Given the description of an element on the screen output the (x, y) to click on. 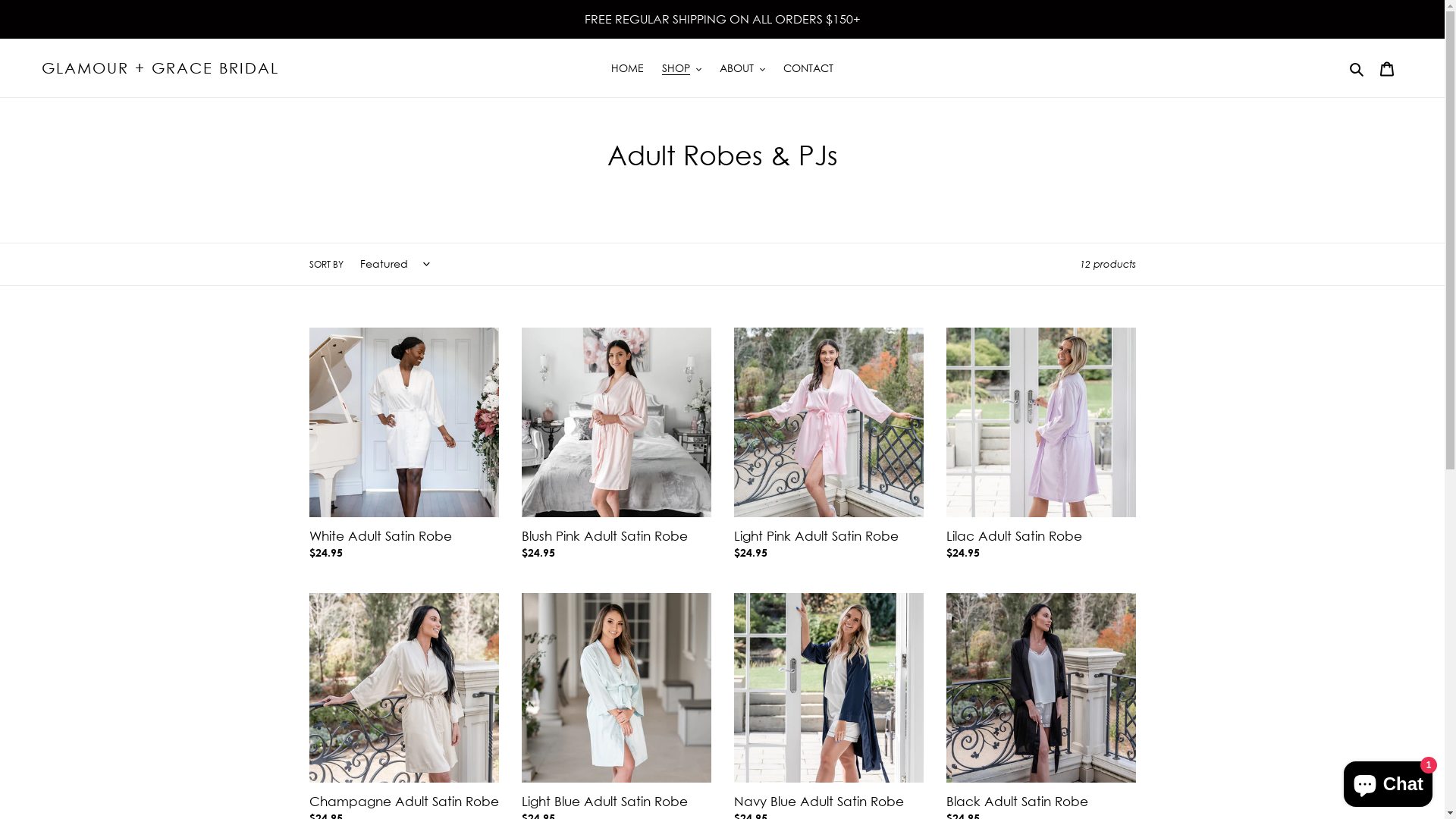
White Adult Satin Robe Element type: text (403, 446)
ABOUT Element type: text (742, 67)
CONTACT Element type: text (807, 67)
HOME Element type: text (627, 67)
Light Pink Adult Satin Robe Element type: text (828, 446)
GLAMOUR + GRACE BRIDAL Element type: text (160, 68)
Lilac Adult Satin Robe Element type: text (1040, 446)
Cart Element type: text (1386, 67)
Blush Pink Adult Satin Robe Element type: text (616, 446)
SHOP Element type: text (681, 67)
Shopify online store chat Element type: hover (1388, 780)
Search Element type: text (1357, 67)
